Given the description of an element on the screen output the (x, y) to click on. 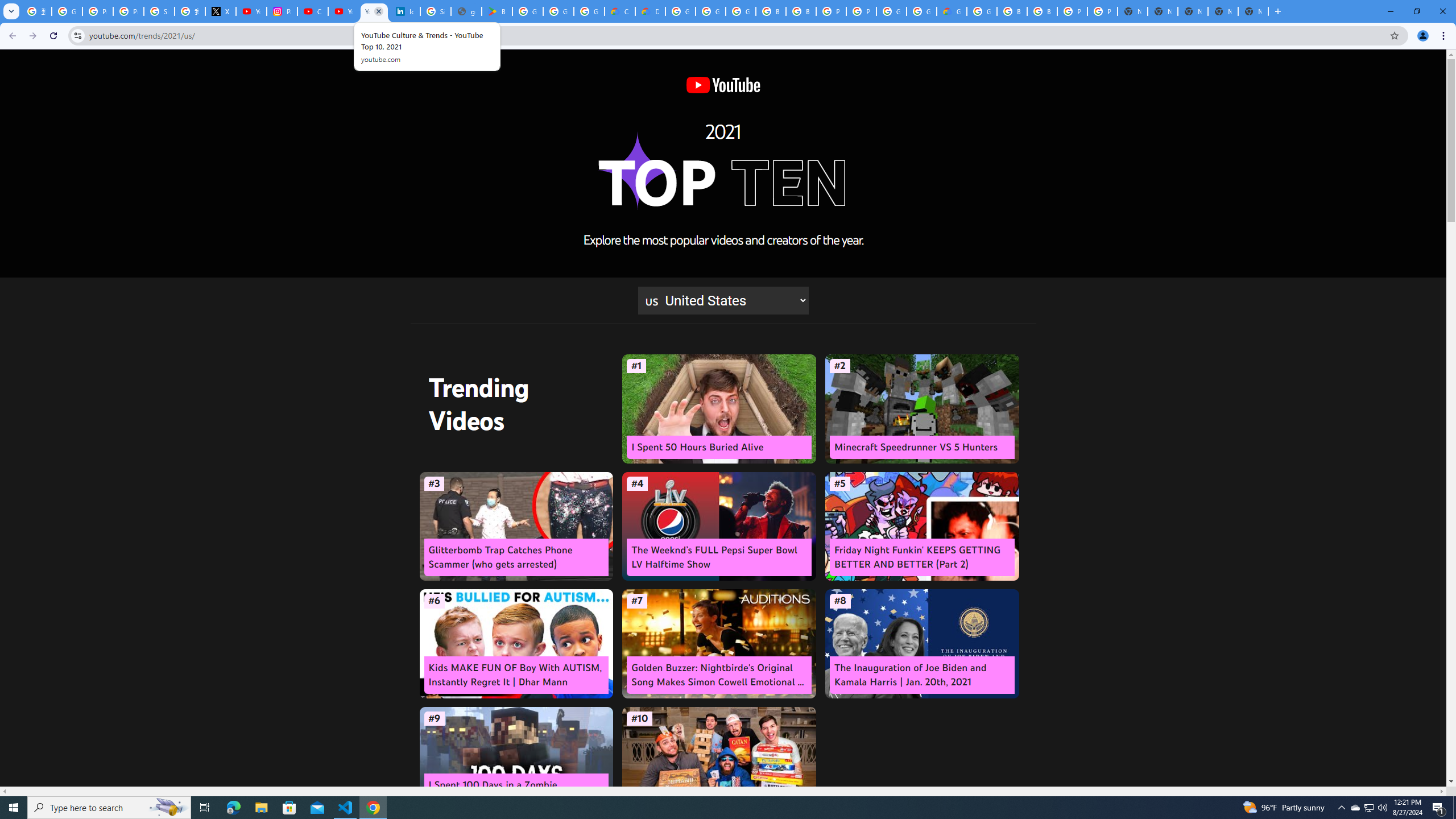
Google Workspace - Specific Terms (589, 11)
Bluey: Let's Play! - Apps on Google Play (496, 11)
Browse Chrome as a guest - Computer - Google Chrome Help (1011, 11)
